Given the description of an element on the screen output the (x, y) to click on. 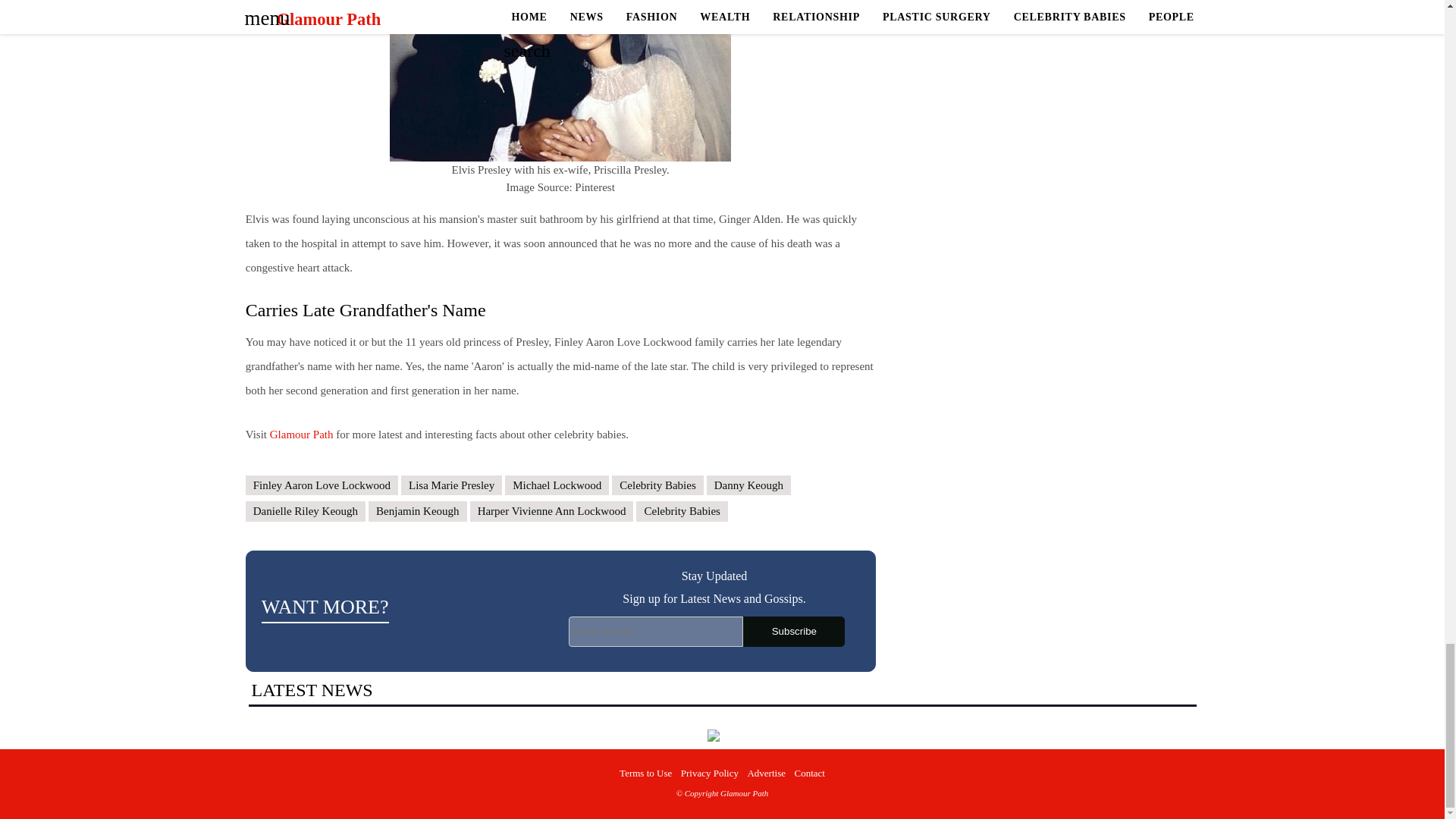
Danielle Riley Keough (305, 511)
Michael Lockwood (556, 485)
Danny Keough (748, 485)
Glamour Path (301, 434)
Celebrity Babies (657, 485)
Finley Aaron Love Lockwood (321, 485)
Lisa Marie Presley (451, 485)
